Given the description of an element on the screen output the (x, y) to click on. 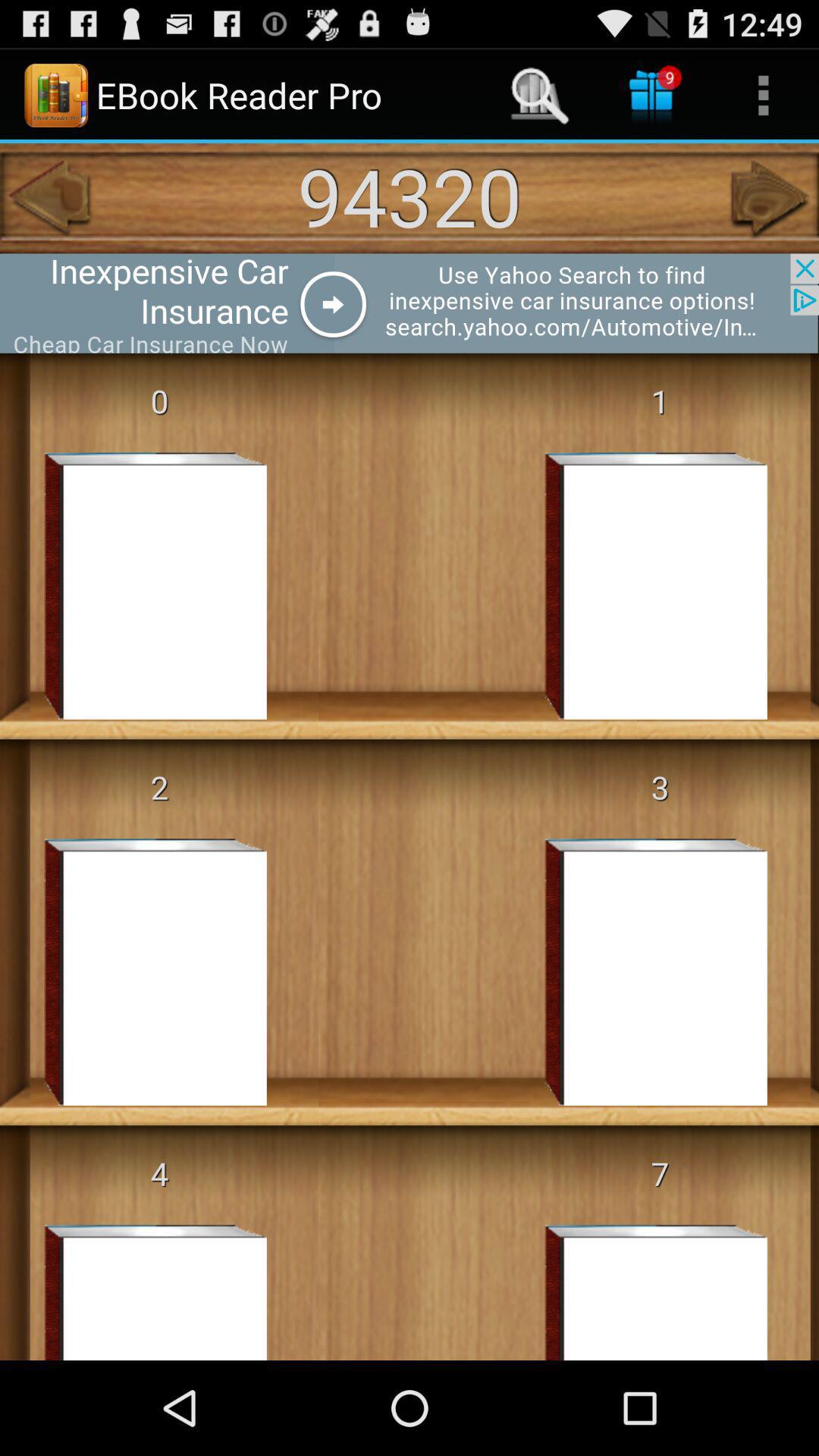
turn off item to the right of ebook reader pro icon (540, 95)
